Given the description of an element on the screen output the (x, y) to click on. 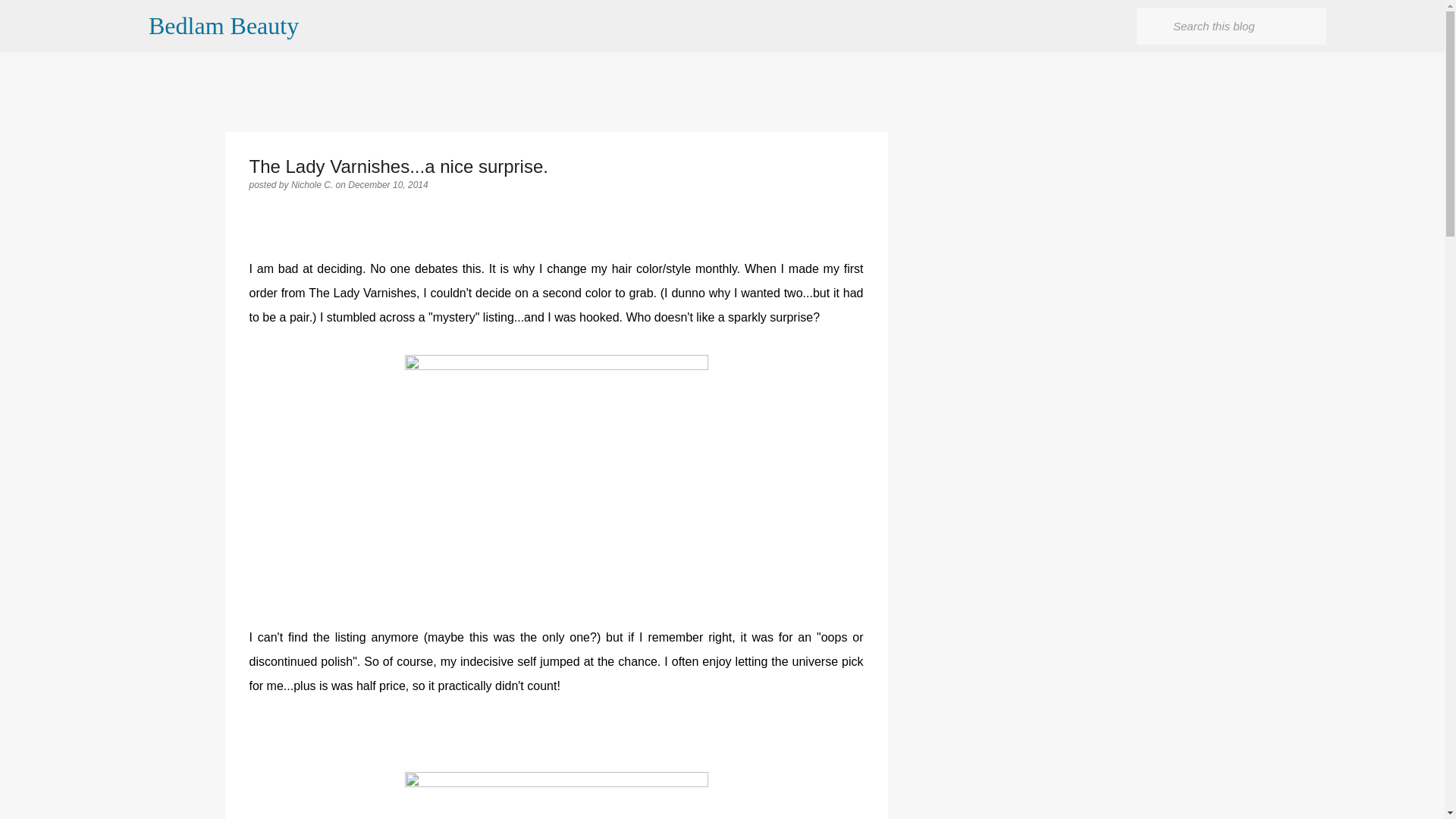
December 10, 2014 (387, 184)
Bedlam Beauty (223, 25)
author profile (313, 184)
Nichole C. (313, 184)
permanent link (387, 184)
